Given the description of an element on the screen output the (x, y) to click on. 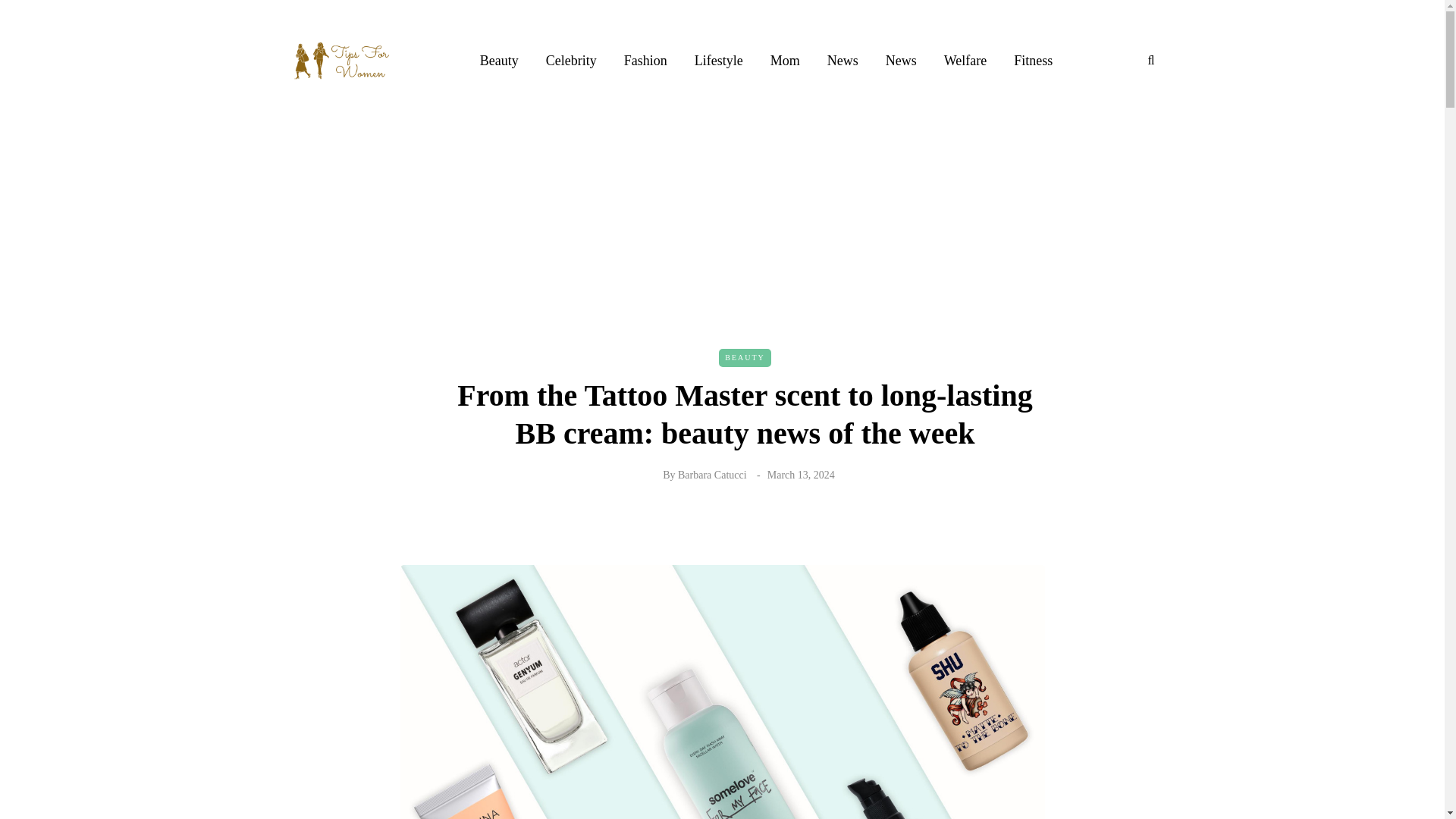
BEAUTY (745, 357)
Fitness (1032, 60)
Fashion (645, 60)
Welfare (965, 60)
Mom (785, 60)
News (901, 60)
News (842, 60)
Posts by Barbara Catucci (712, 473)
Search (43, 15)
Lifestyle (719, 60)
